Given the description of an element on the screen output the (x, y) to click on. 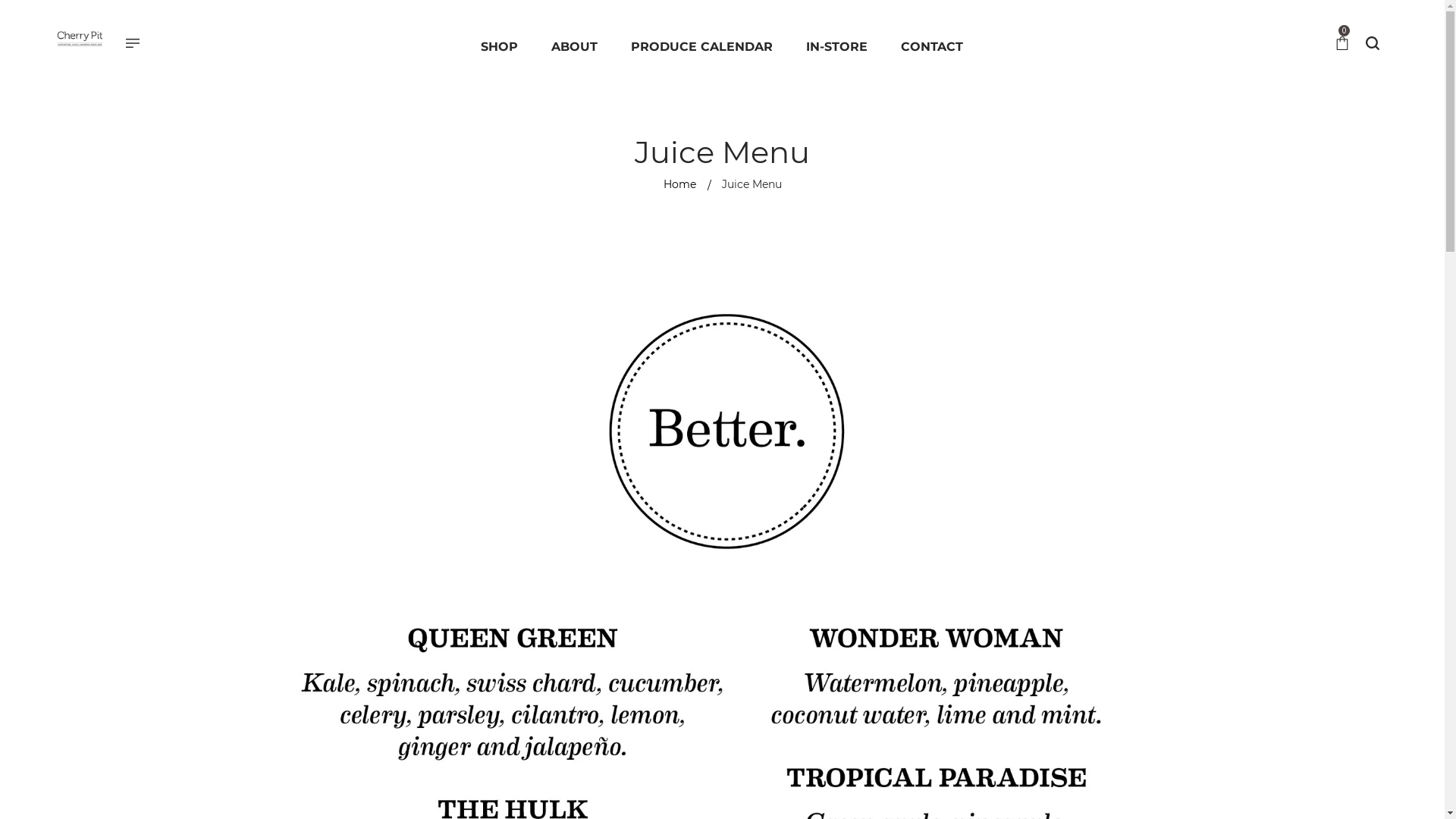
SHOP Element type: text (499, 46)
0 Element type: text (1342, 43)
IN-STORE Element type: text (836, 46)
PRODUCE CALENDAR Element type: text (701, 46)
CONTACT Element type: text (931, 46)
Home Element type: text (678, 184)
ABOUT Element type: text (573, 46)
